Given the description of an element on the screen output the (x, y) to click on. 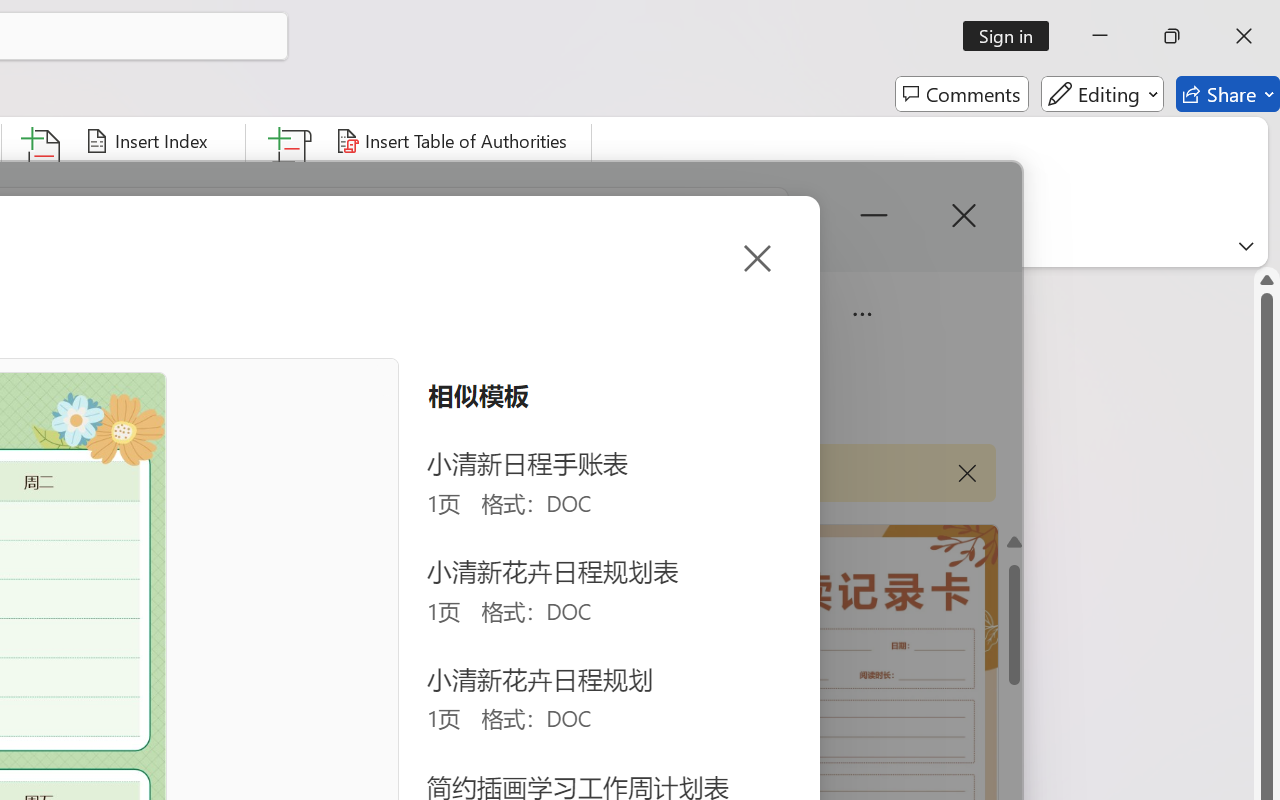
Insert Table of Authorities... (453, 141)
